Given the description of an element on the screen output the (x, y) to click on. 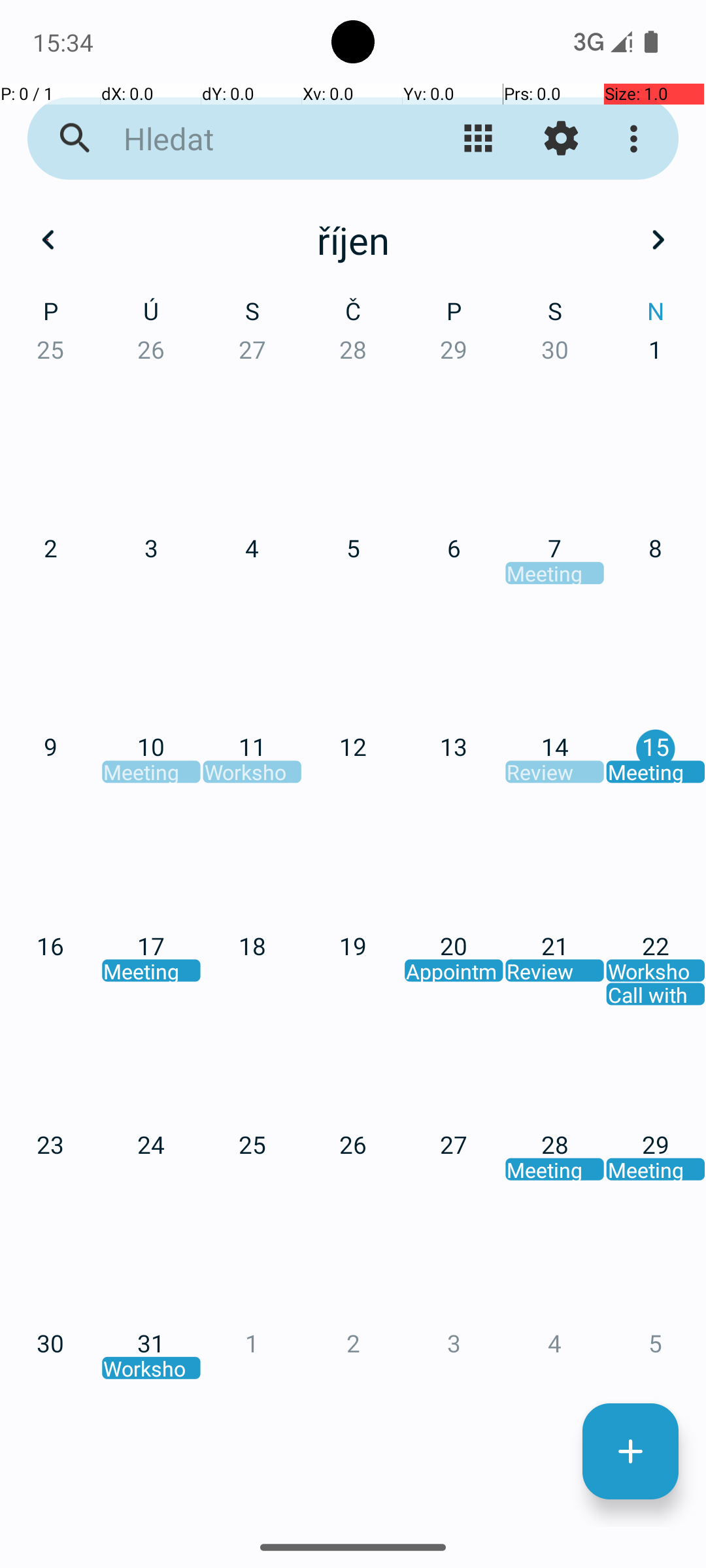
Hledat Element type: android.widget.EditText (252, 138)
Změnit zobrazení Element type: android.widget.Button (477, 138)
Nastavení Element type: android.widget.Button (560, 138)
Další možnosti Element type: android.widget.ImageView (636, 138)
Nová událost Element type: android.widget.ImageButton (630, 1451)
říjen Element type: android.widget.TextView (352, 239)
